Given the description of an element on the screen output the (x, y) to click on. 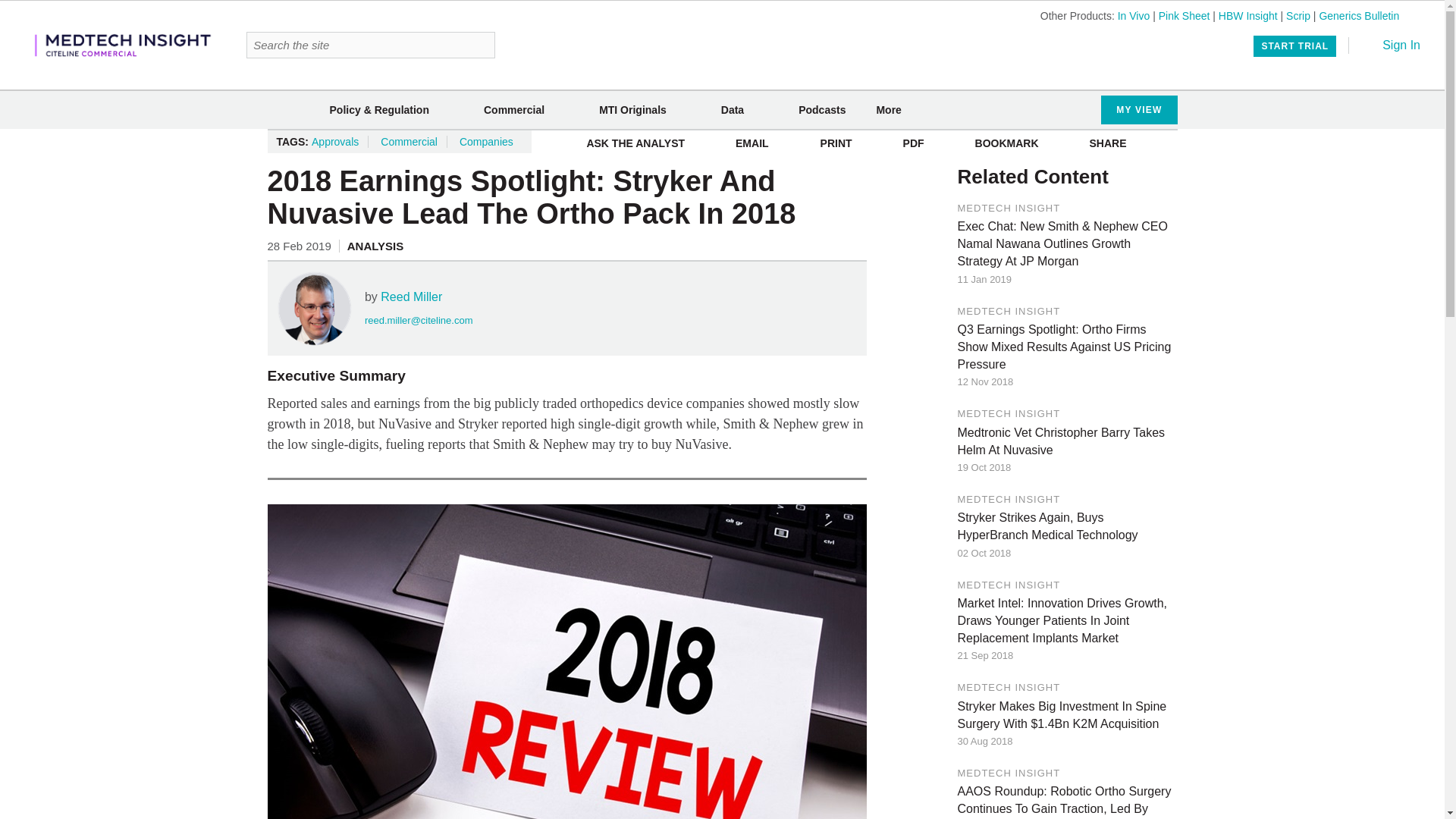
START TRIAL (1294, 46)
Pink Sheet (1183, 15)
Scrip (1297, 15)
HBW Insight (1248, 15)
Sign In (1391, 44)
Generics Bulletin (1359, 15)
In Vivo (1134, 15)
Commercial (513, 110)
